Given the description of an element on the screen output the (x, y) to click on. 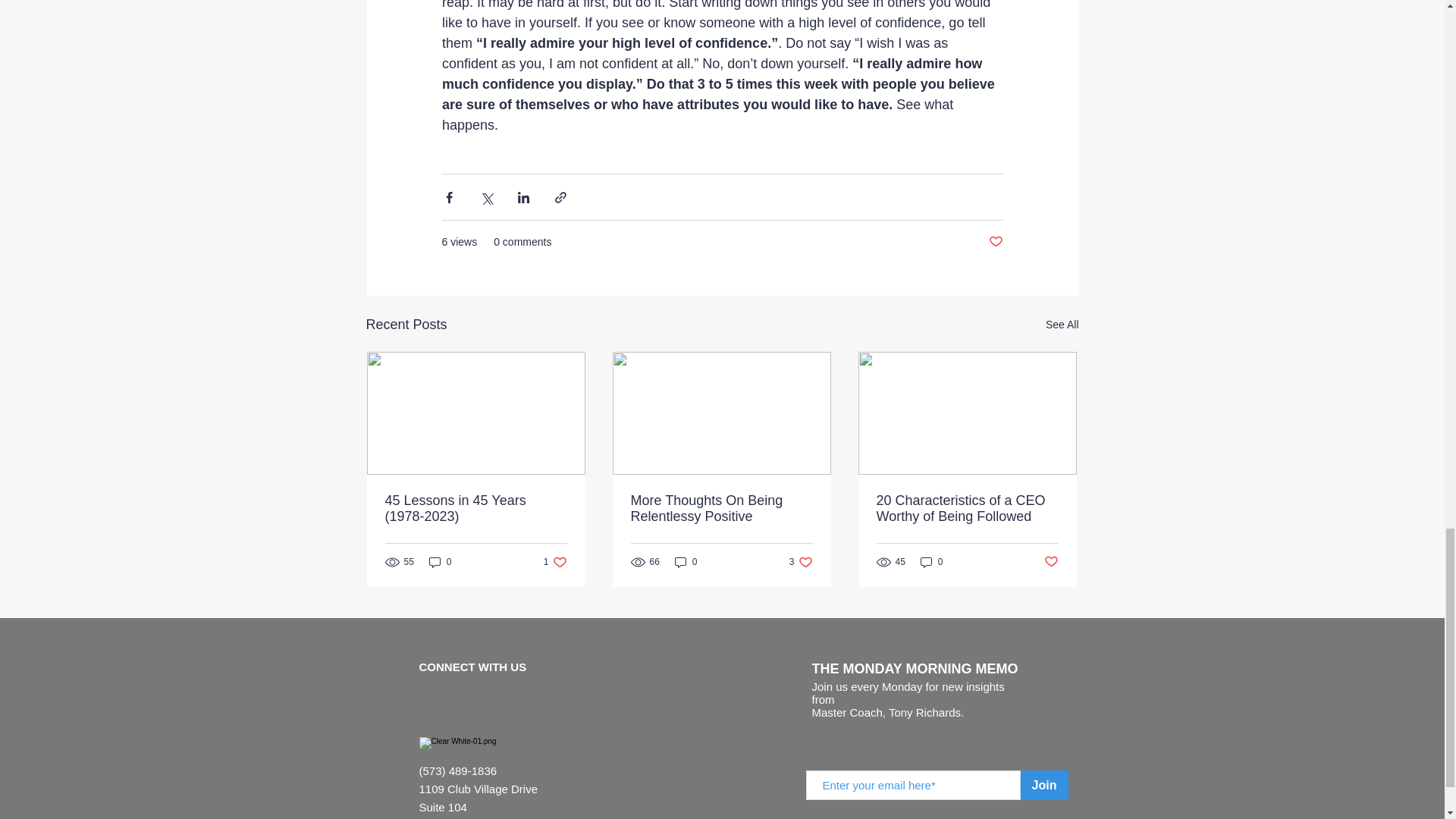
Join (1044, 785)
0 (685, 562)
20 Characteristics of a CEO Worthy of Being Followed (967, 508)
See All (1061, 324)
More Thoughts On Being Relentlessy Positive (721, 508)
Post not marked as liked (800, 562)
Post not marked as liked (995, 242)
0 (1050, 562)
